Given the description of an element on the screen output the (x, y) to click on. 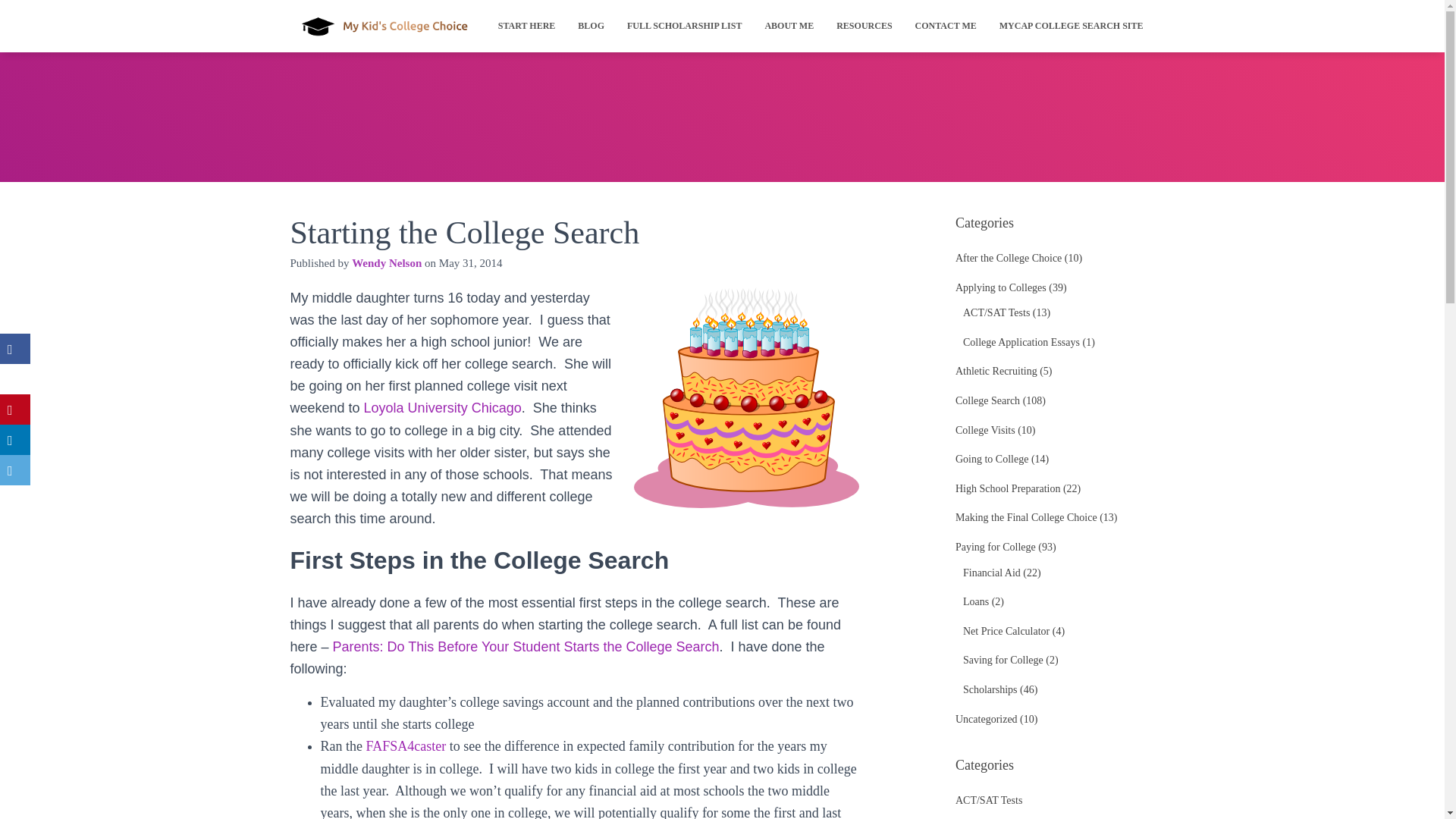
Full Scholarship List (683, 26)
MYCAP COLLEGE SEARCH SITE (1071, 26)
CONTACT ME (946, 26)
Applying to Colleges (1000, 287)
After the College Choice (1008, 257)
College Application Essays (1021, 342)
Going to College (991, 459)
Paying for College (995, 546)
Blog (590, 26)
BLOG (590, 26)
